Given the description of an element on the screen output the (x, y) to click on. 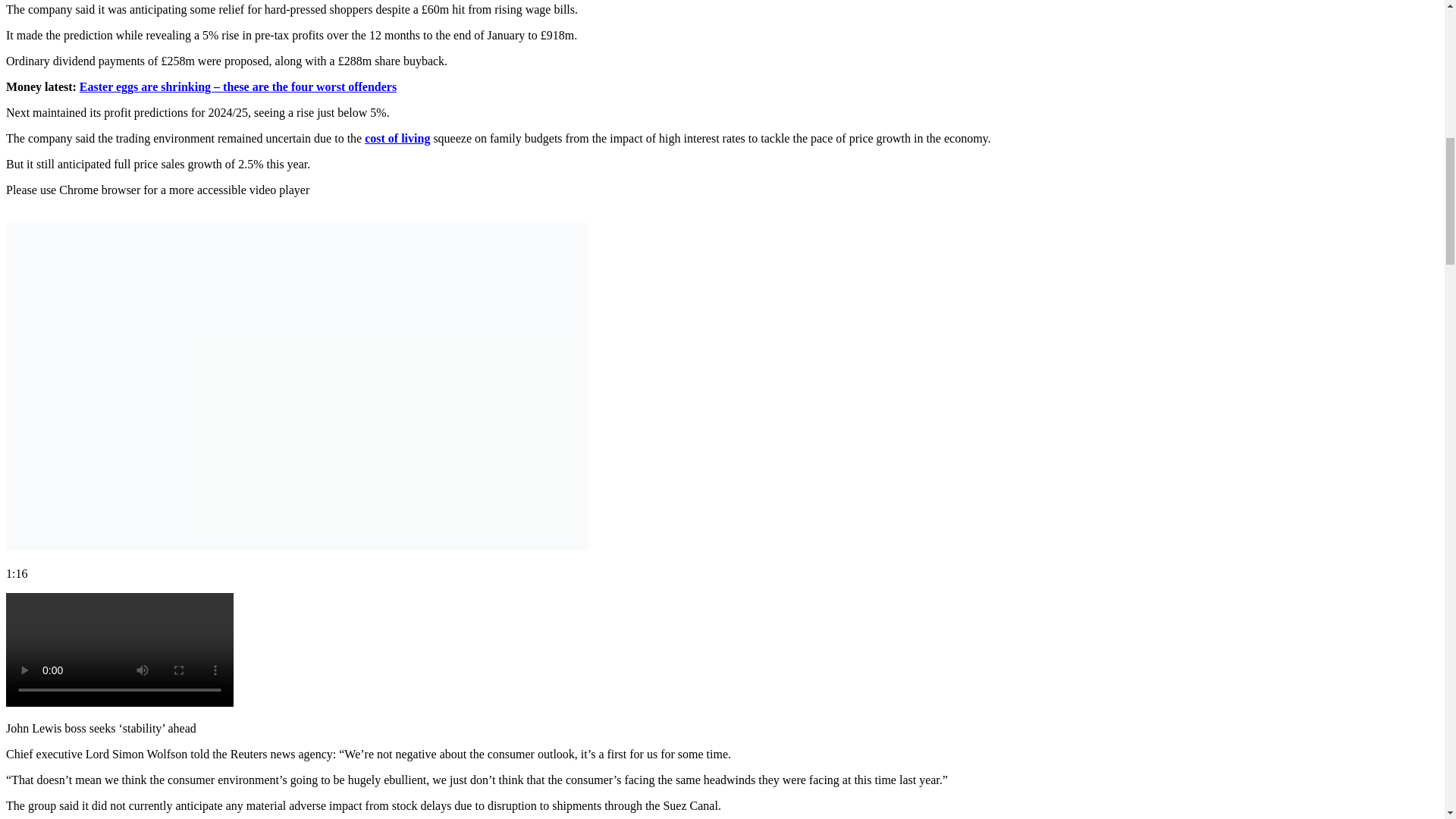
cost of living (397, 137)
